Given the description of an element on the screen output the (x, y) to click on. 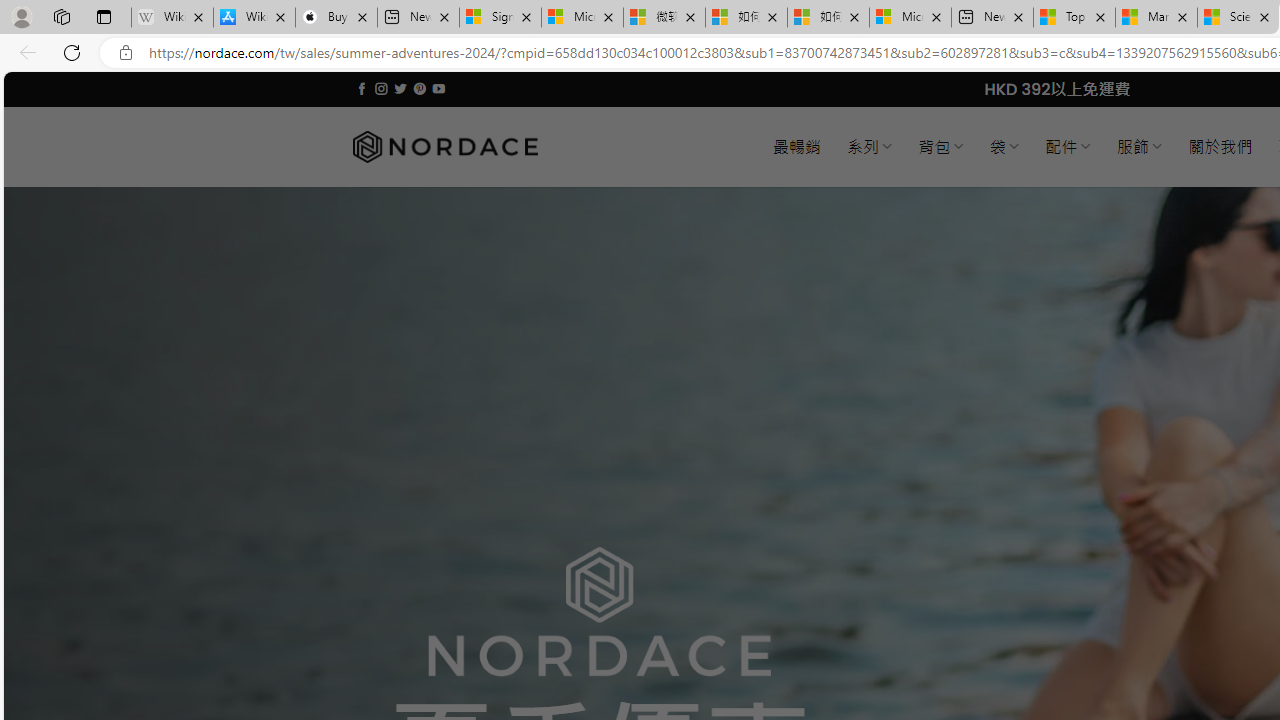
Follow on Instagram (381, 88)
Nordace (444, 147)
